Given the description of an element on the screen output the (x, y) to click on. 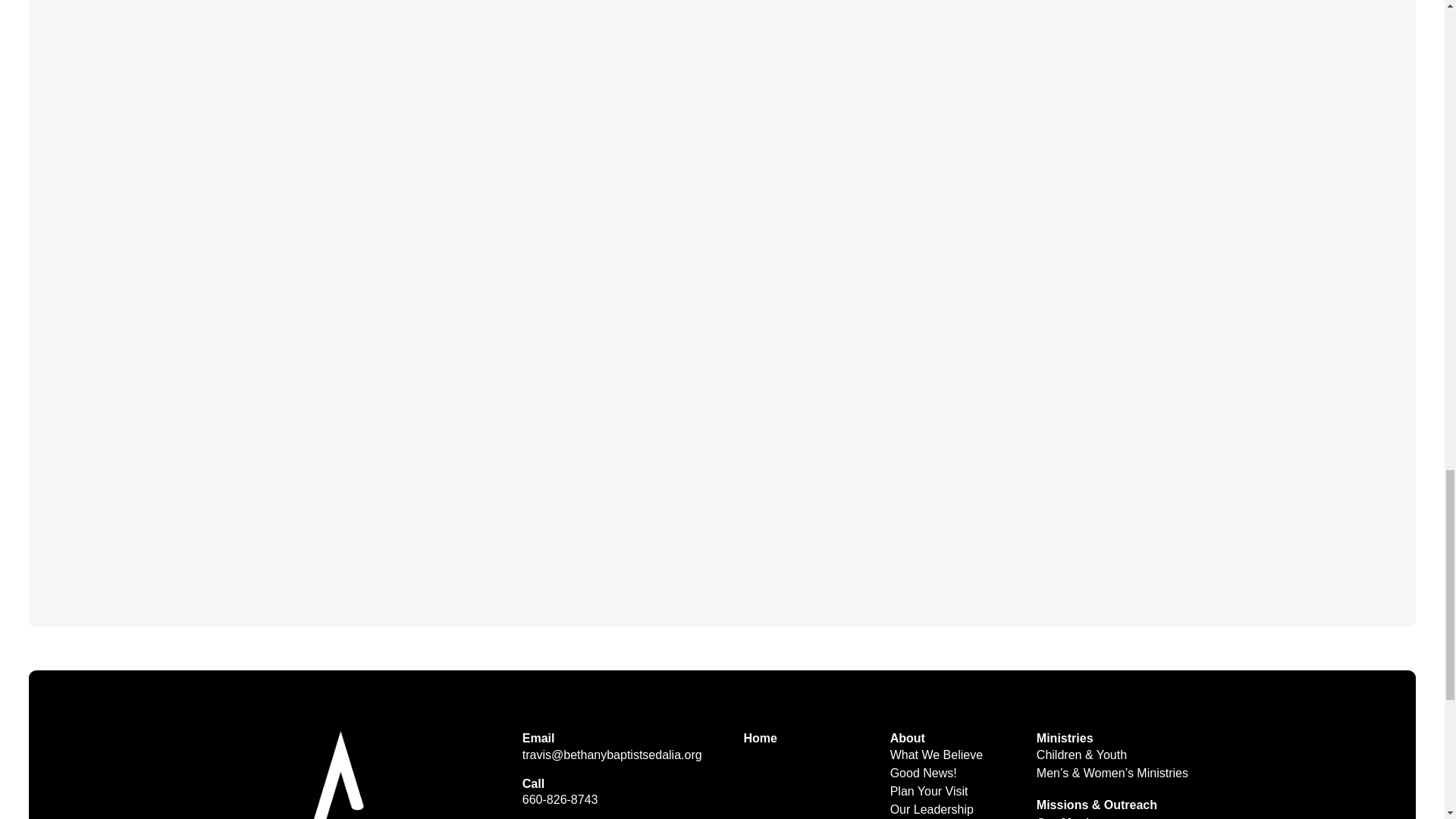
660-826-8743 (560, 799)
Good News! (930, 772)
About (914, 737)
Plan Your Visit (936, 790)
Our Leadership (938, 806)
What We Believe (943, 754)
Home (767, 737)
